Given the description of an element on the screen output the (x, y) to click on. 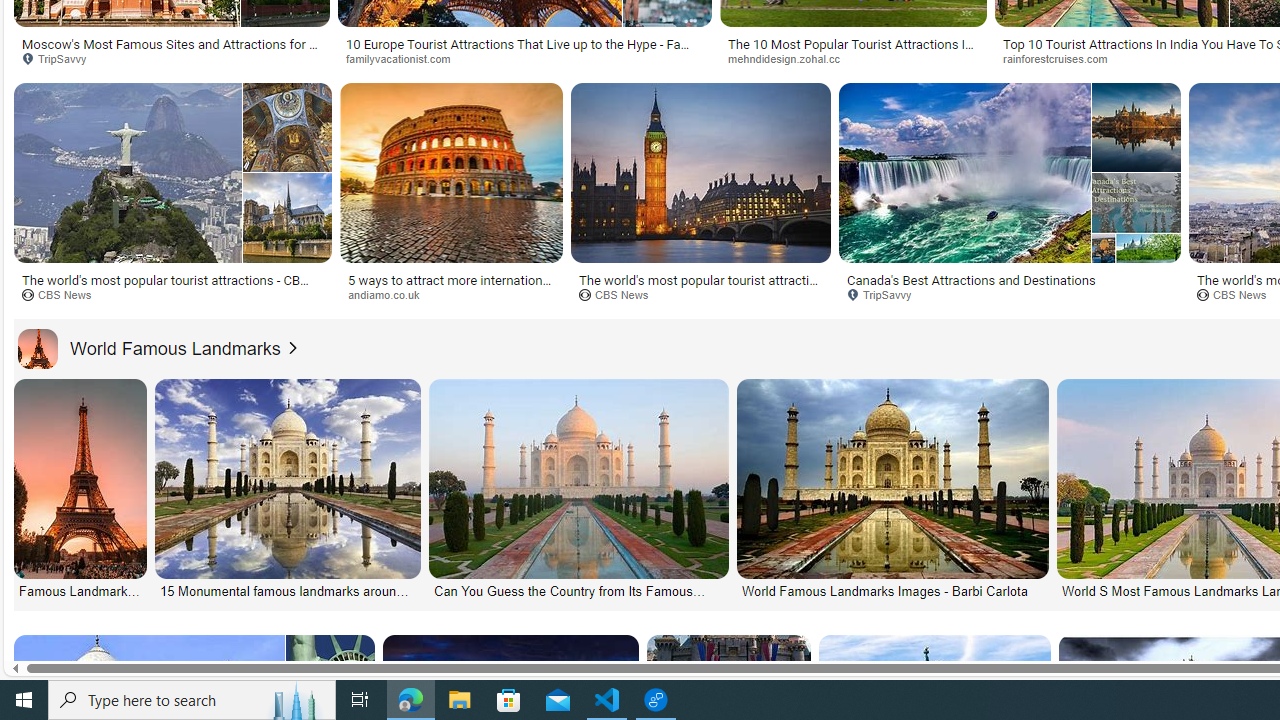
mehndidesign.zohal.cc (853, 58)
CBS News (700, 295)
World Famous Landmarks (149, 348)
Canada's Best Attractions and Destinations (1009, 279)
15 Monumental famous landmarks around the world - DCT Travel (286, 589)
The world's most popular tourist attractions (700, 286)
Canada's Best Attractions and DestinationsTripSavvySave (1013, 196)
TripSavvy (1009, 295)
Moscow's Most Famous Sites and Attractions for Visitors (172, 50)
